Given the description of an element on the screen output the (x, y) to click on. 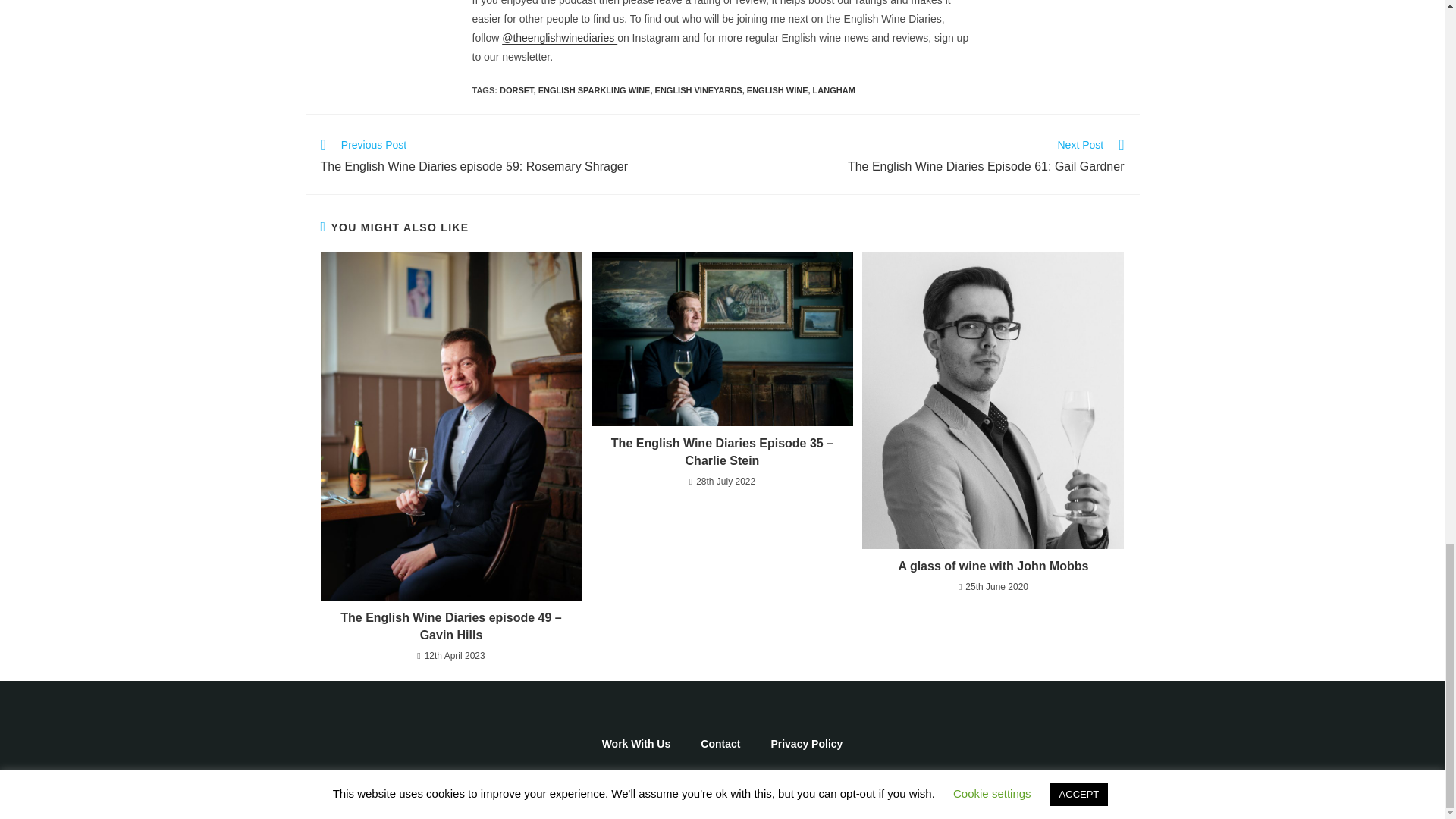
Privacy Policy (806, 743)
LANGHAM (834, 90)
ENGLISH WINE (777, 90)
Contact (720, 743)
ENGLISH SPARKLING WINE (930, 157)
Work With Us (594, 90)
ENGLISH VINEYARDS (635, 743)
DORSET (698, 90)
A glass of wine with John Mobbs (516, 90)
